Given the description of an element on the screen output the (x, y) to click on. 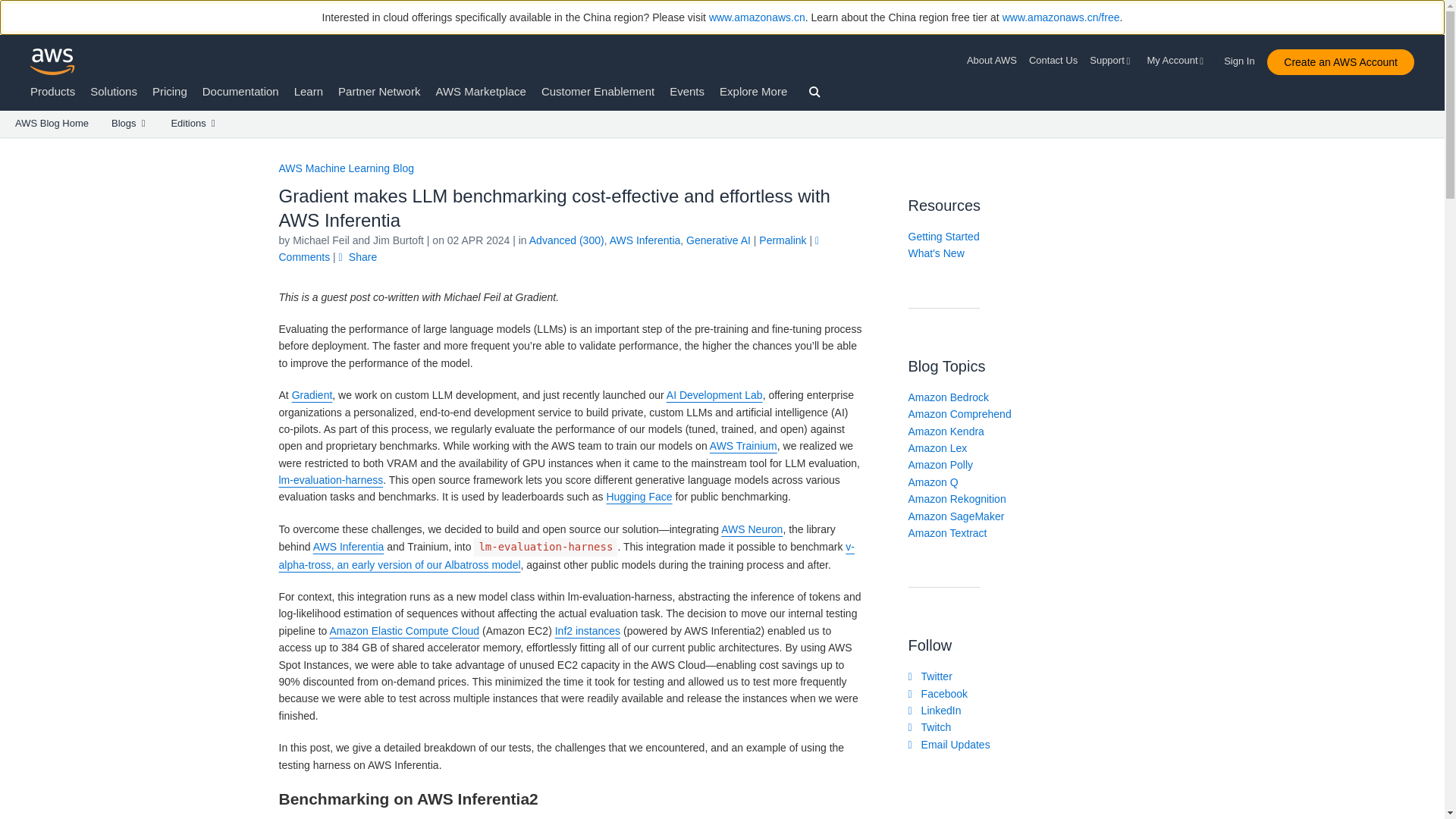
Sign In (1243, 58)
Click here to return to Amazon Web Services homepage (52, 61)
Create an AWS Account (1339, 62)
My Account  (1177, 60)
Events (686, 91)
View all posts in AWS Inferentia (645, 240)
Skip to Main Content (7, 143)
Explore More (753, 91)
Documentation (240, 91)
www.amazonaws.cn (757, 17)
Learn (308, 91)
Support  (1111, 60)
AWS Marketplace (480, 91)
Solutions (113, 91)
Customer Enablement (597, 91)
